Given the description of an element on the screen output the (x, y) to click on. 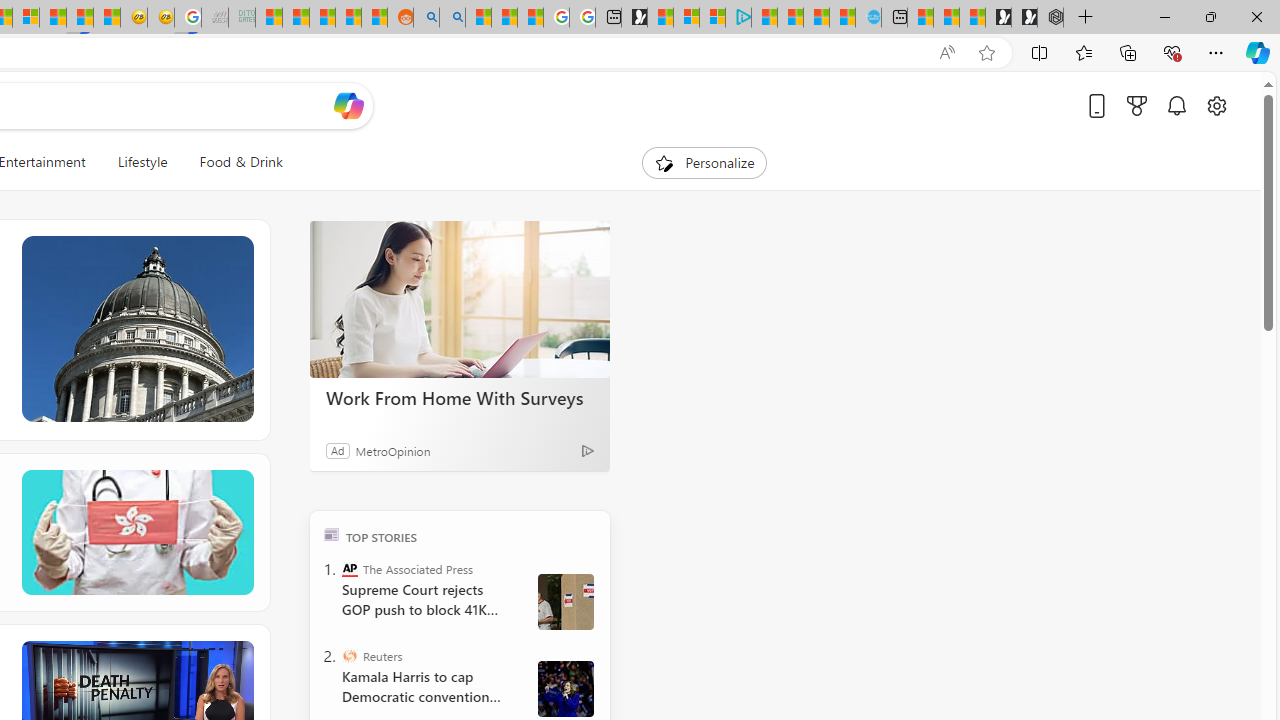
 Harris and Walz campaign in Wisconsin (565, 688)
MetroOpinion (392, 450)
Work From Home With Surveys (459, 299)
